Given the description of an element on the screen output the (x, y) to click on. 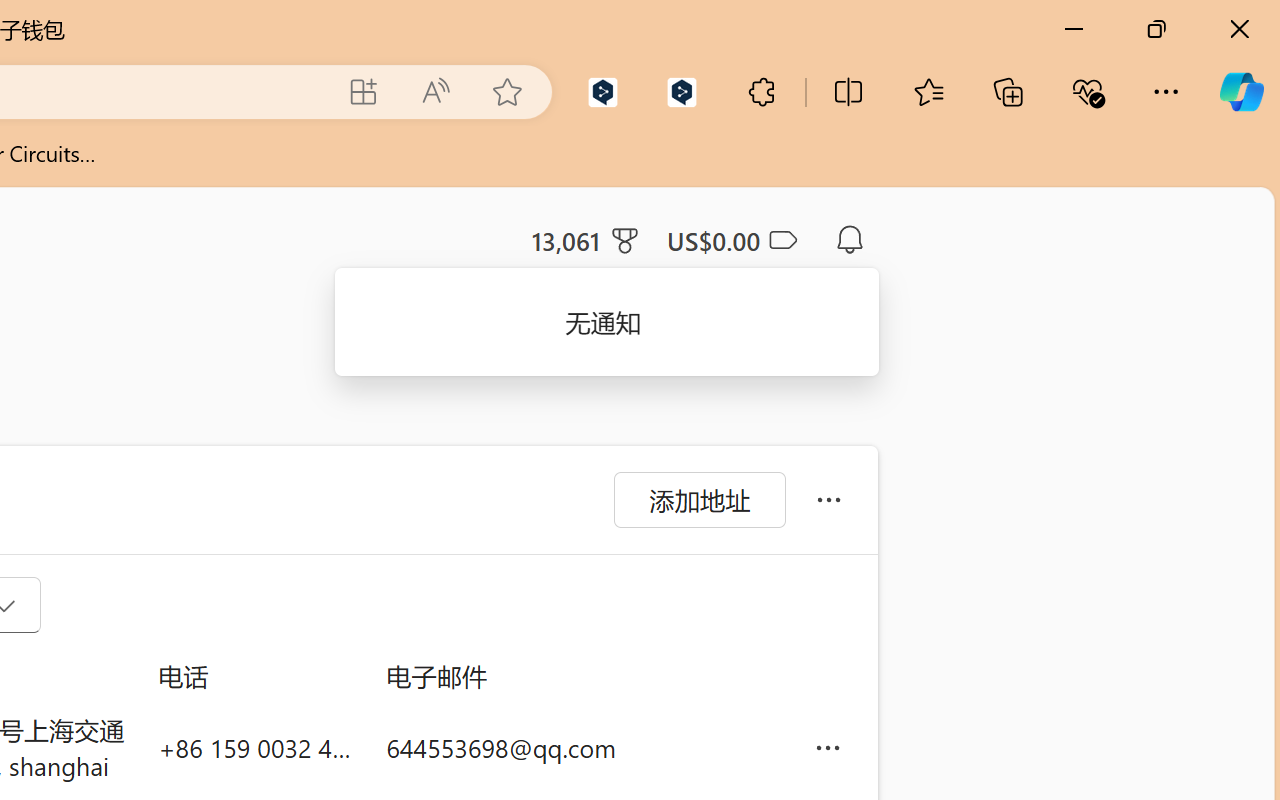
644553698@qq.com (583, 747)
+86 159 0032 4640 (256, 747)
Copilot (Ctrl+Shift+.) (1241, 91)
Microsoft Cashback - US$0.00 (731, 240)
